Given the description of an element on the screen output the (x, y) to click on. 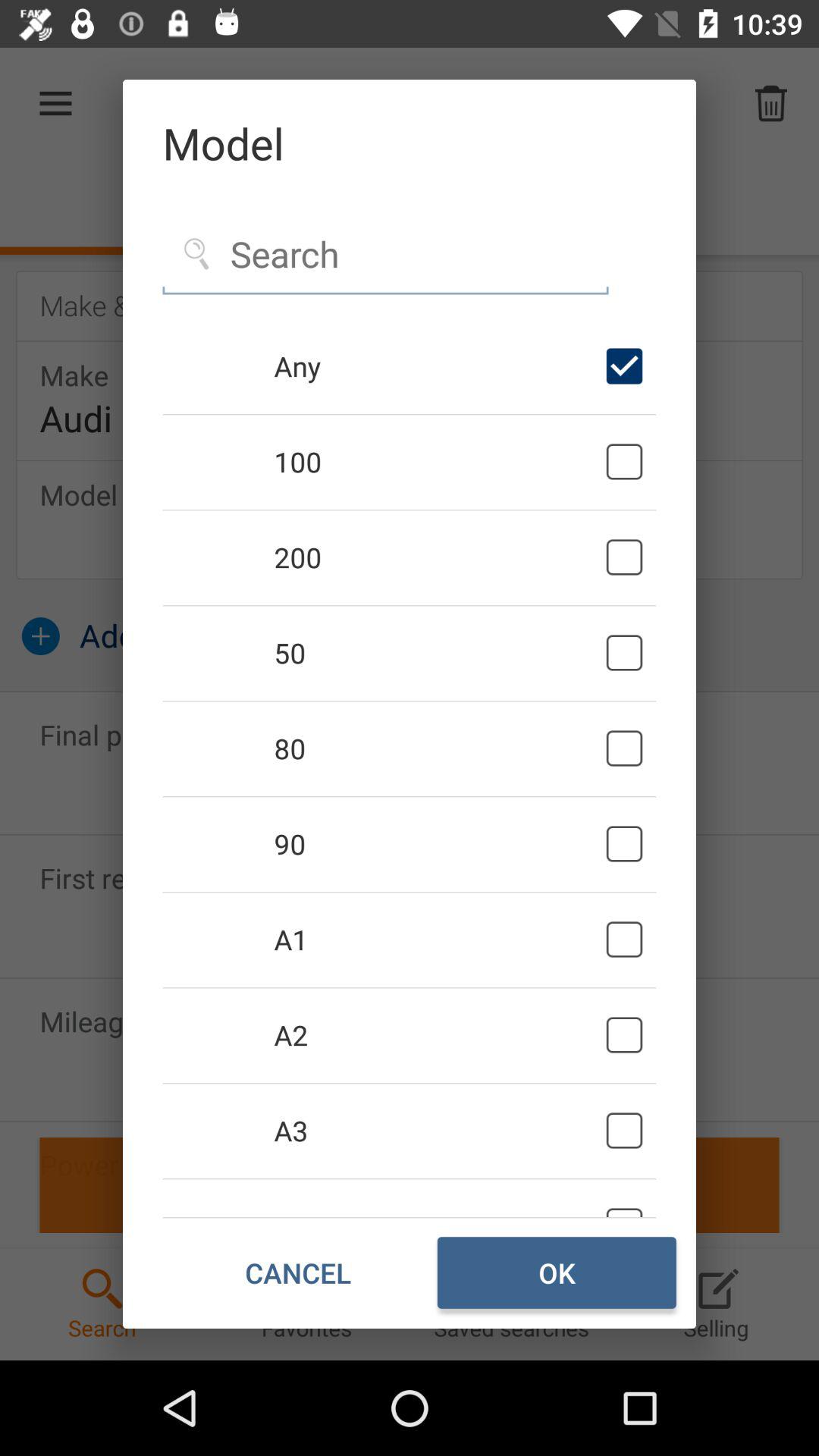
click the item above the a2 icon (437, 939)
